Given the description of an element on the screen output the (x, y) to click on. 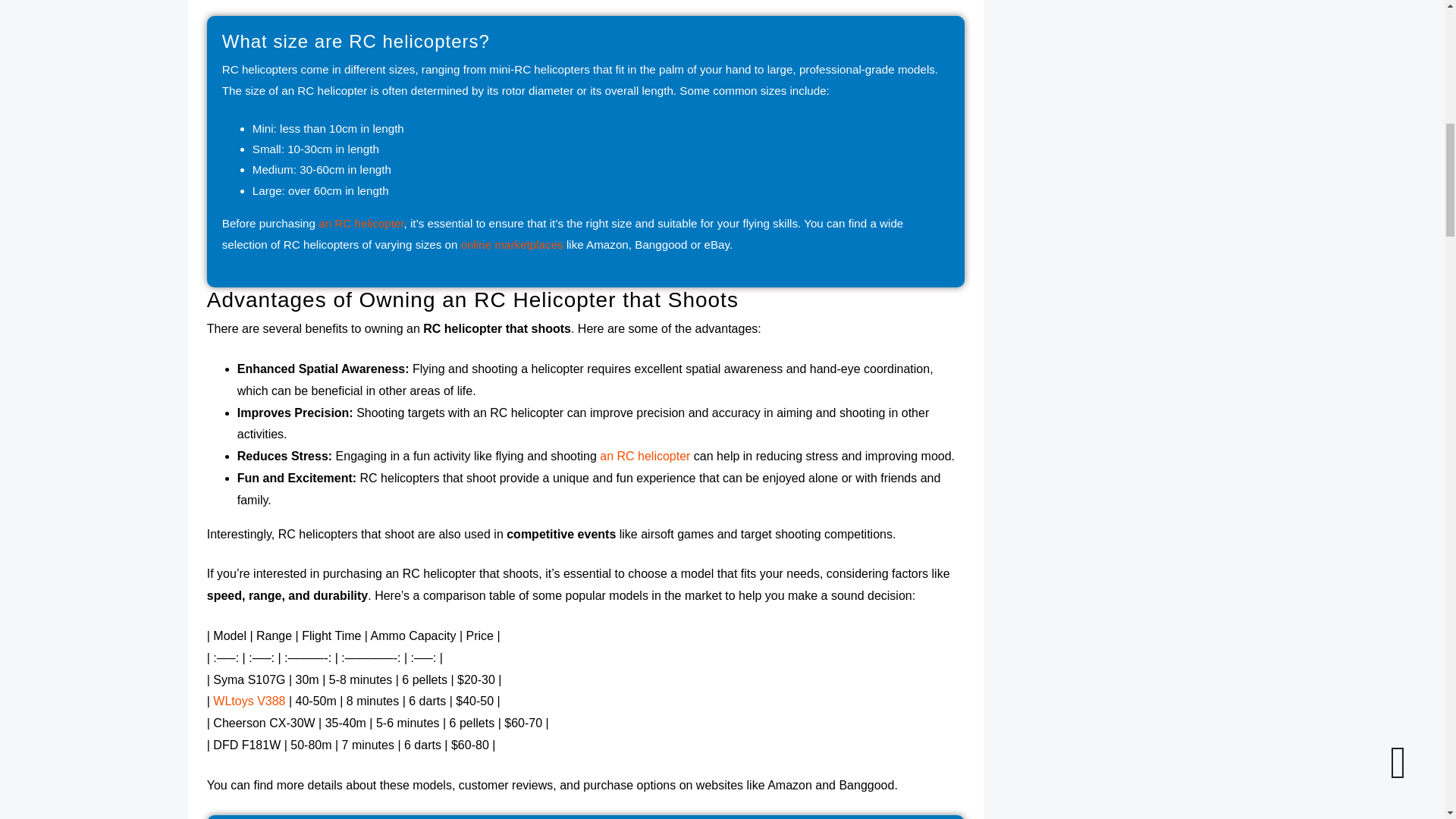
an RC helicopter (644, 455)
WLtoys V388 (248, 700)
an RC helicopter (360, 223)
online marketplaces (512, 244)
